Given the description of an element on the screen output the (x, y) to click on. 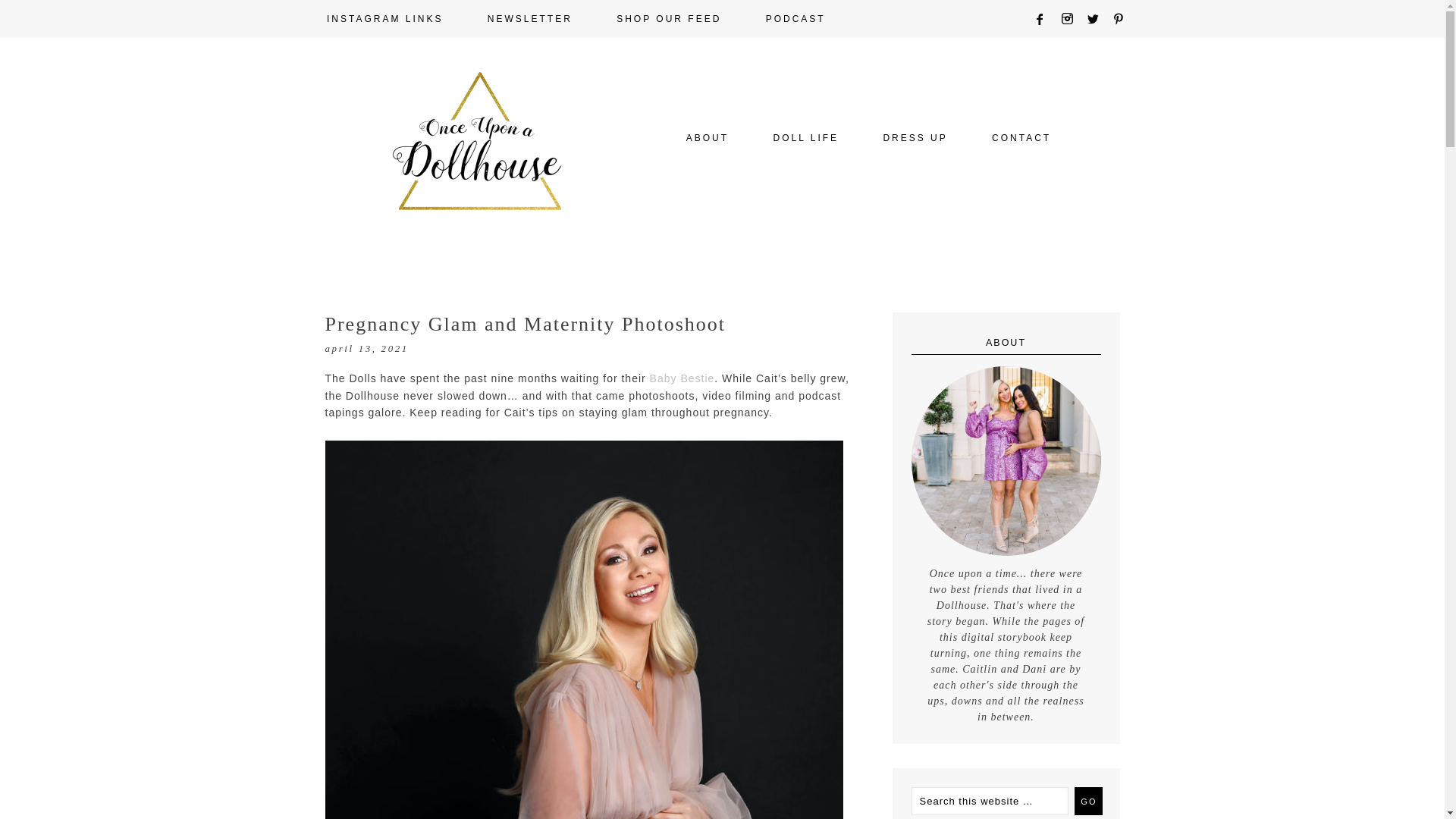
NEWSLETTER (529, 18)
PODCAST (795, 18)
Facebook (1045, 19)
Two Best Friends (707, 137)
Lifestyle (805, 137)
Pinterest (1124, 19)
ONCE UPON A DOLLHOUSE (449, 193)
INSTAGRAM LINKS (385, 18)
ABOUT (707, 137)
DRESS UP (914, 137)
